Given the description of an element on the screen output the (x, y) to click on. 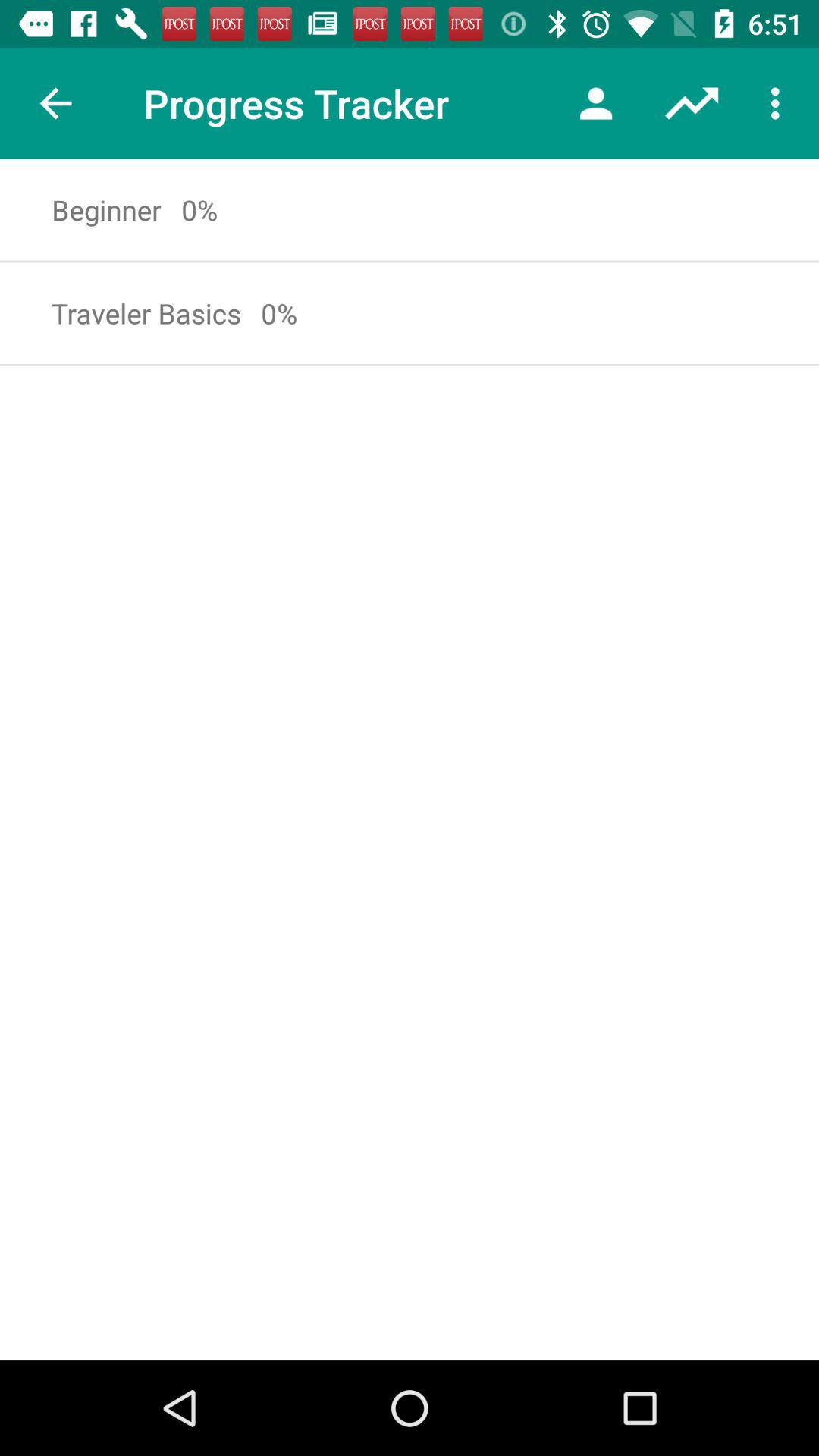
click item to the right of progress tracker item (595, 103)
